Given the description of an element on the screen output the (x, y) to click on. 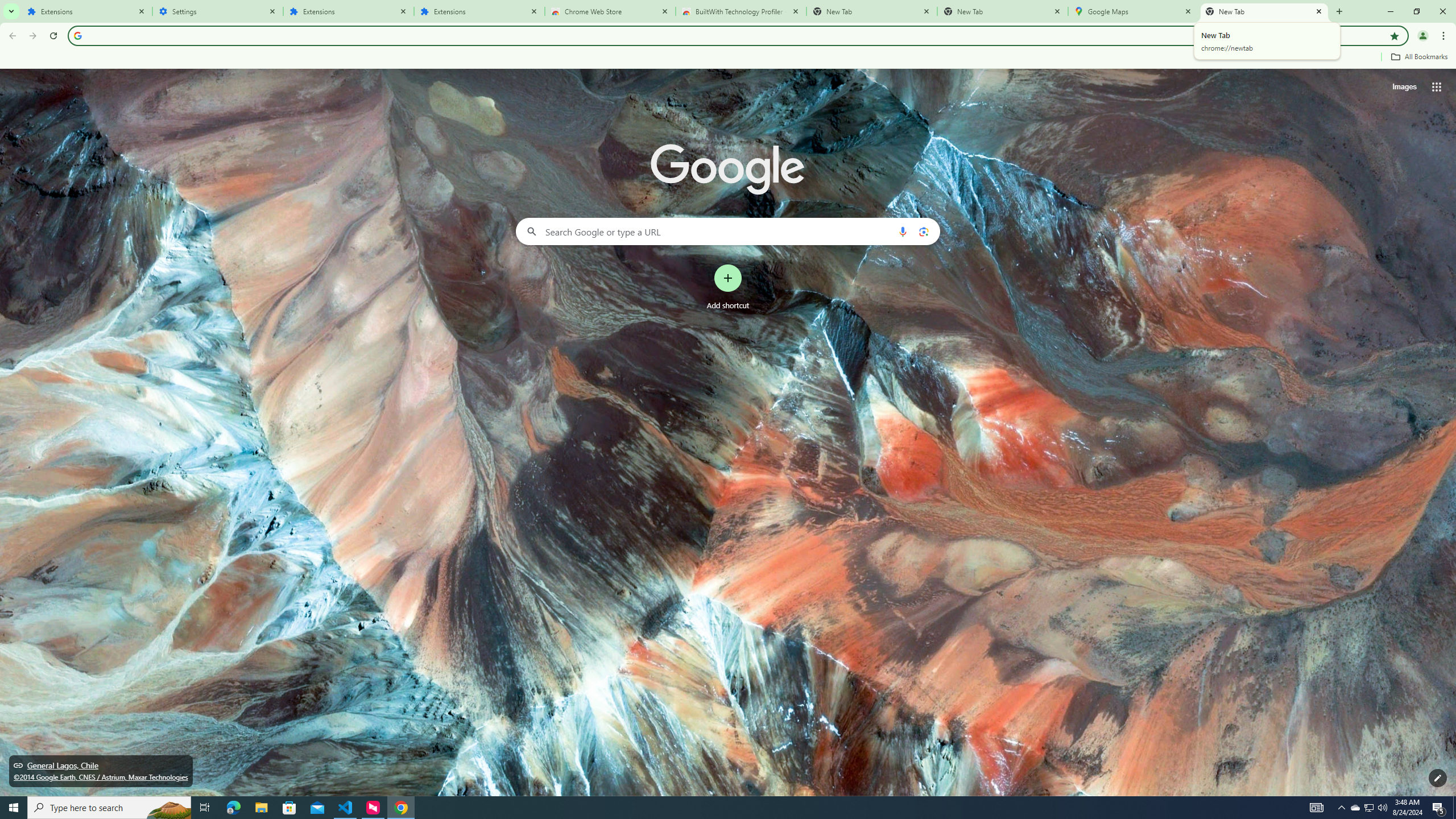
Extensions (348, 11)
Chrome Web Store (610, 11)
